Given the description of an element on the screen output the (x, y) to click on. 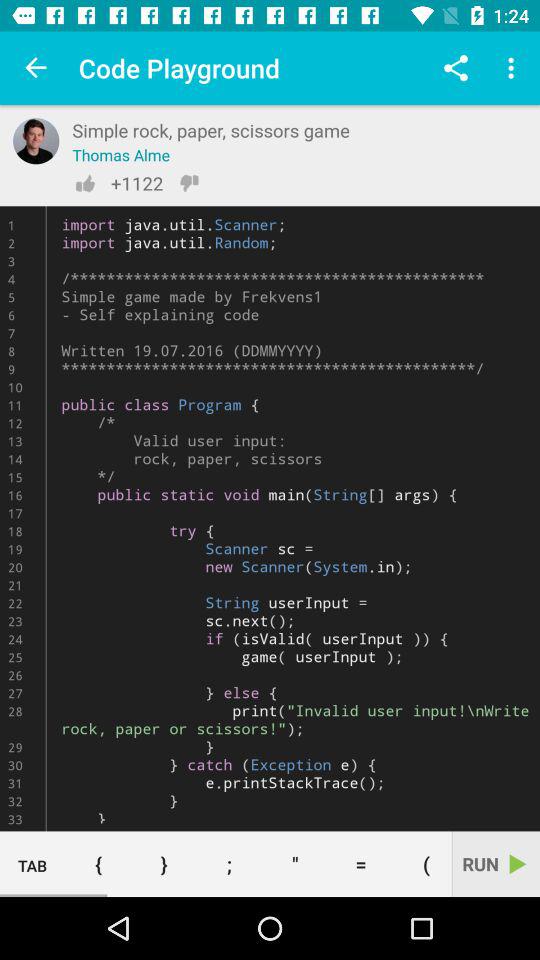
click the item below the import java util (229, 863)
